Given the description of an element on the screen output the (x, y) to click on. 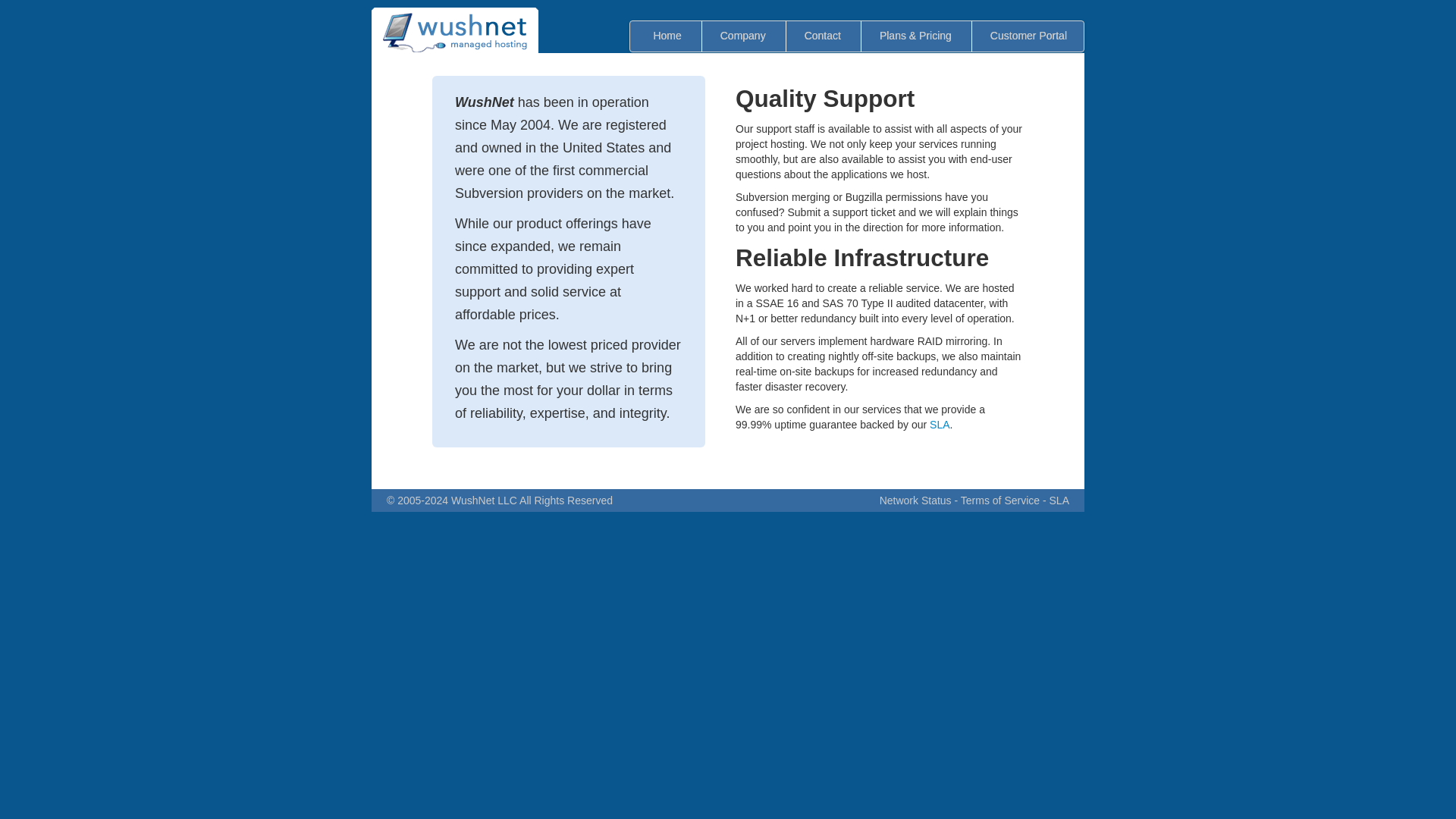
SLA (939, 424)
Network Status (915, 500)
Customer Portal (1028, 35)
SLA (1058, 500)
Contact (822, 35)
Company (743, 35)
Home (667, 35)
Terms of Service (999, 500)
